Given the description of an element on the screen output the (x, y) to click on. 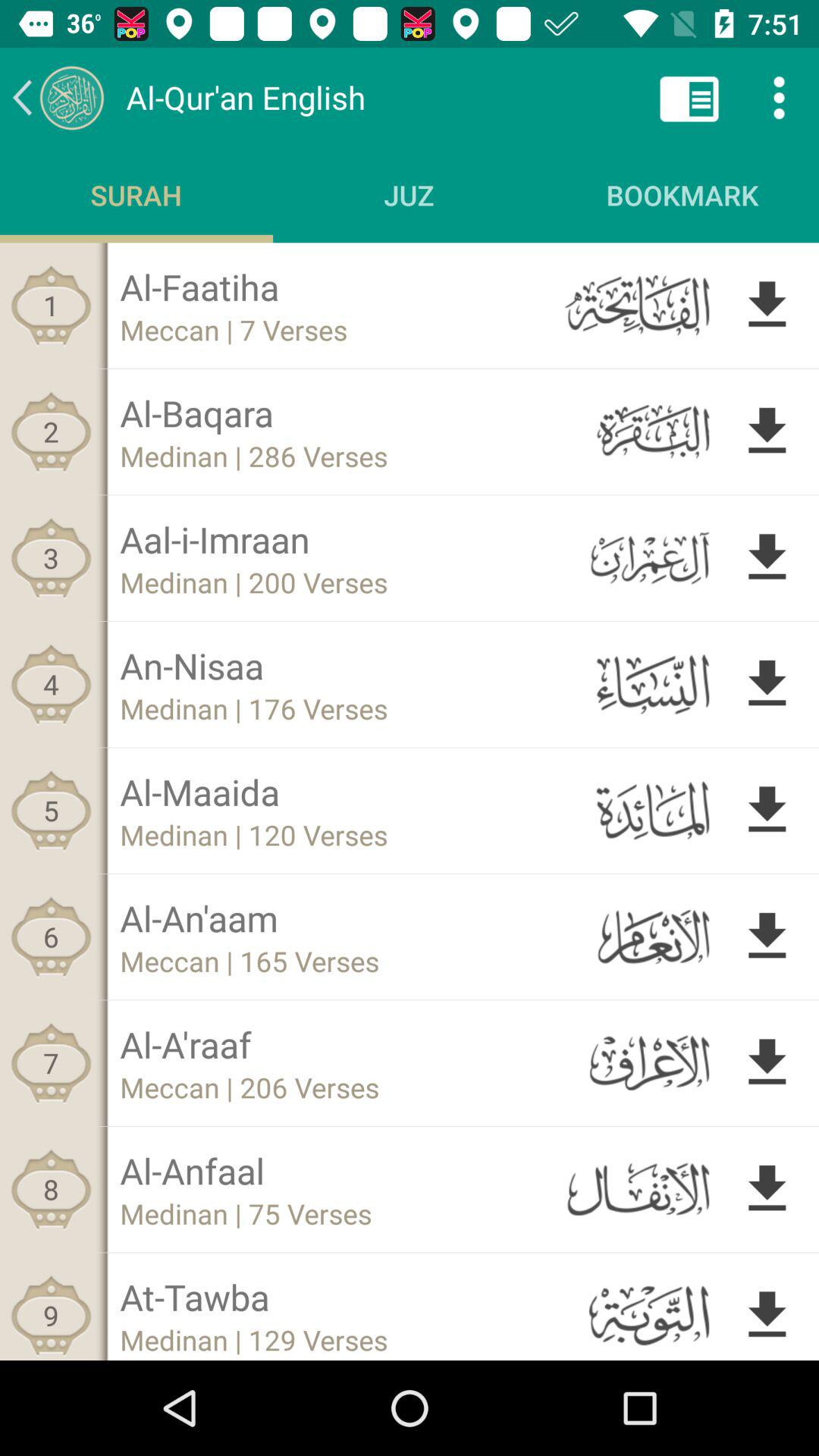
download item (767, 810)
